Given the description of an element on the screen output the (x, y) to click on. 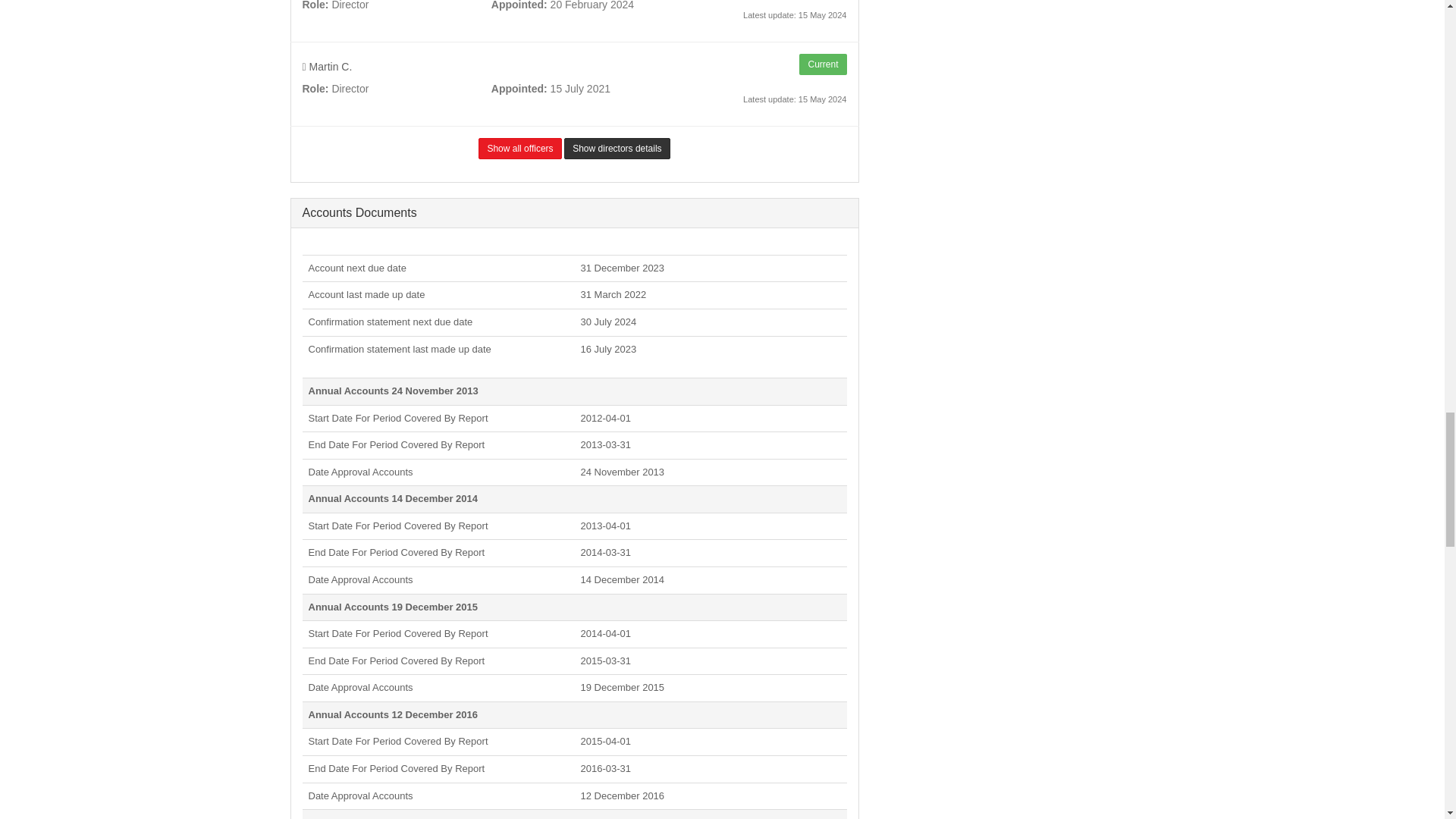
Show directors details (616, 148)
Show all officers (519, 148)
Current (822, 64)
